Given the description of an element on the screen output the (x, y) to click on. 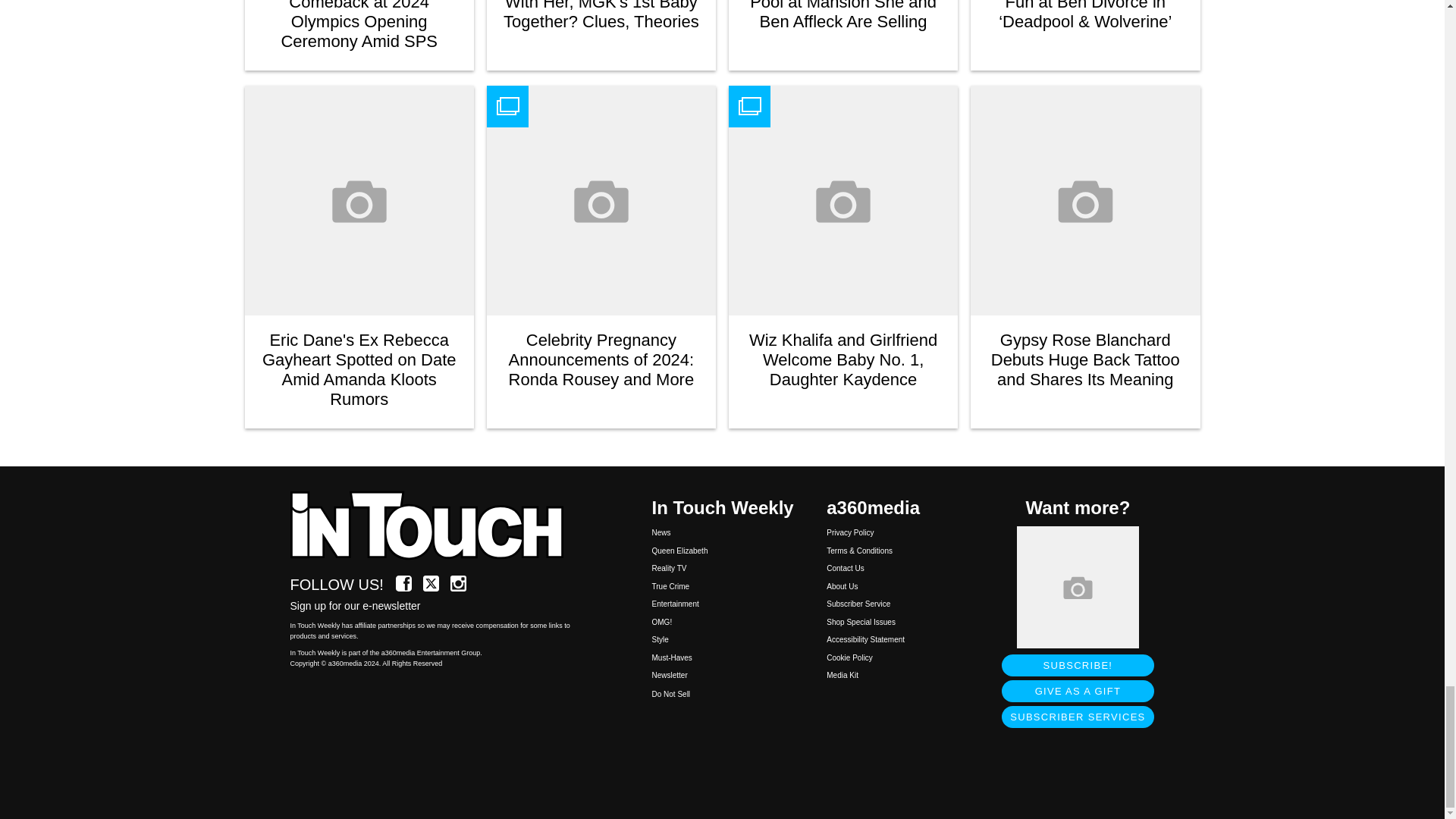
Home (434, 526)
